Given the description of an element on the screen output the (x, y) to click on. 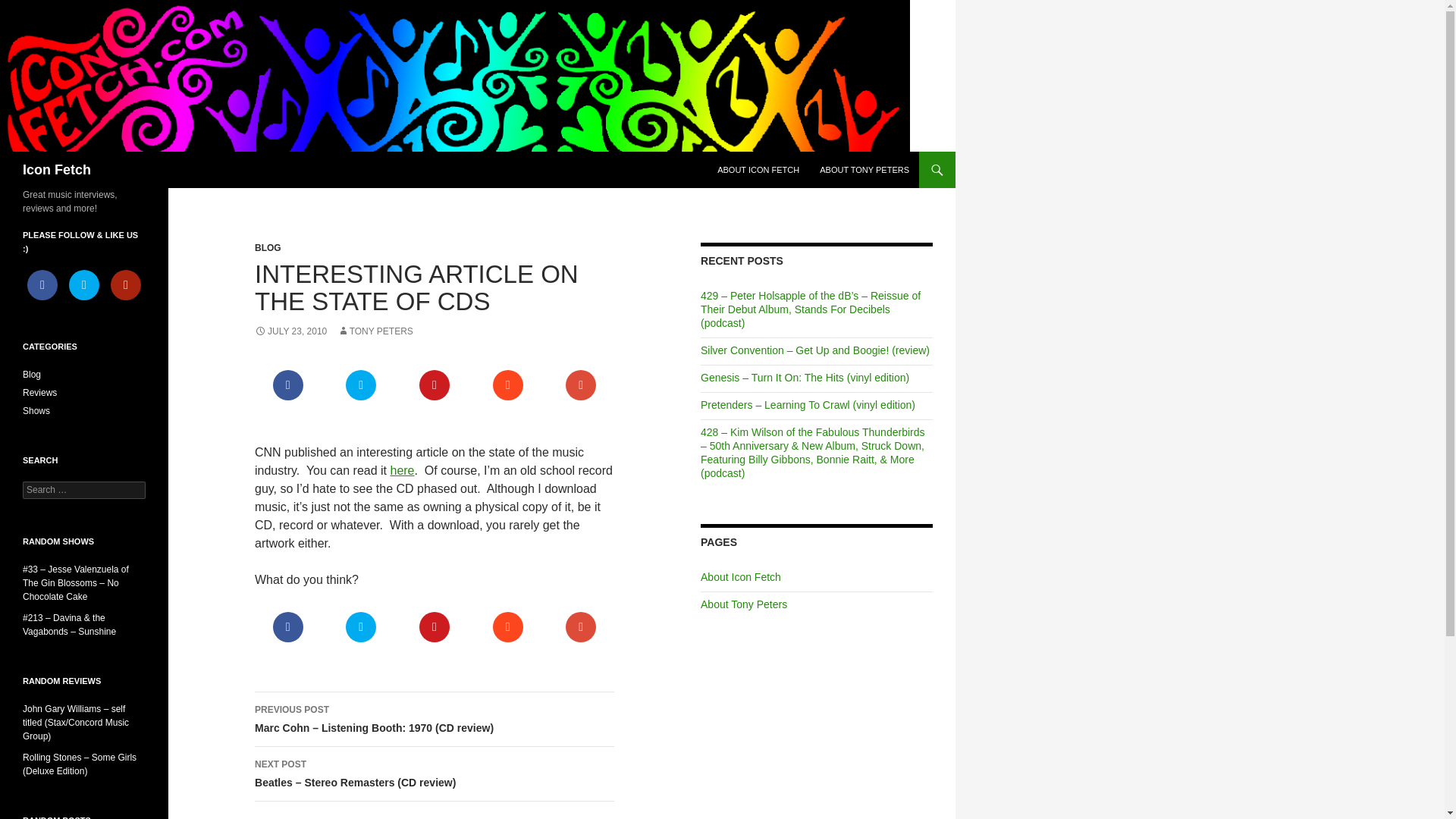
ABOUT ICON FETCH (757, 169)
ABOUT TONY PETERS (864, 169)
Icon Fetch (56, 169)
Reviews (39, 392)
About Tony Peters (743, 604)
BLOG (267, 247)
Blog (31, 374)
Shows (36, 410)
JULY 23, 2010 (290, 330)
TONY PETERS (375, 330)
here (401, 470)
Search (30, 8)
About Icon Fetch (740, 576)
